Given the description of an element on the screen output the (x, y) to click on. 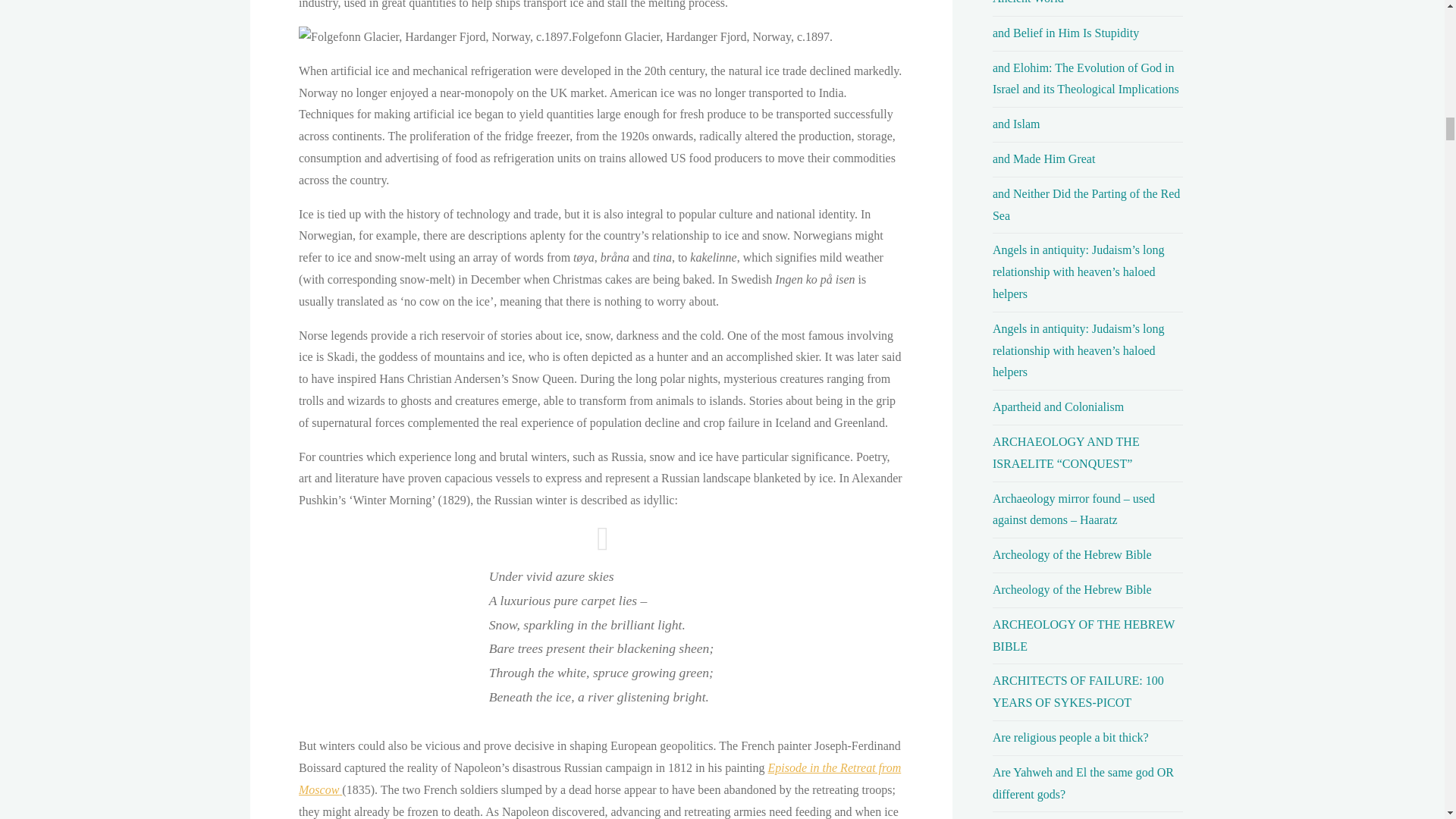
Folgefonn Glacier, Hardanger Fjord, Norway, c.1897. (435, 37)
